Given the description of an element on the screen output the (x, y) to click on. 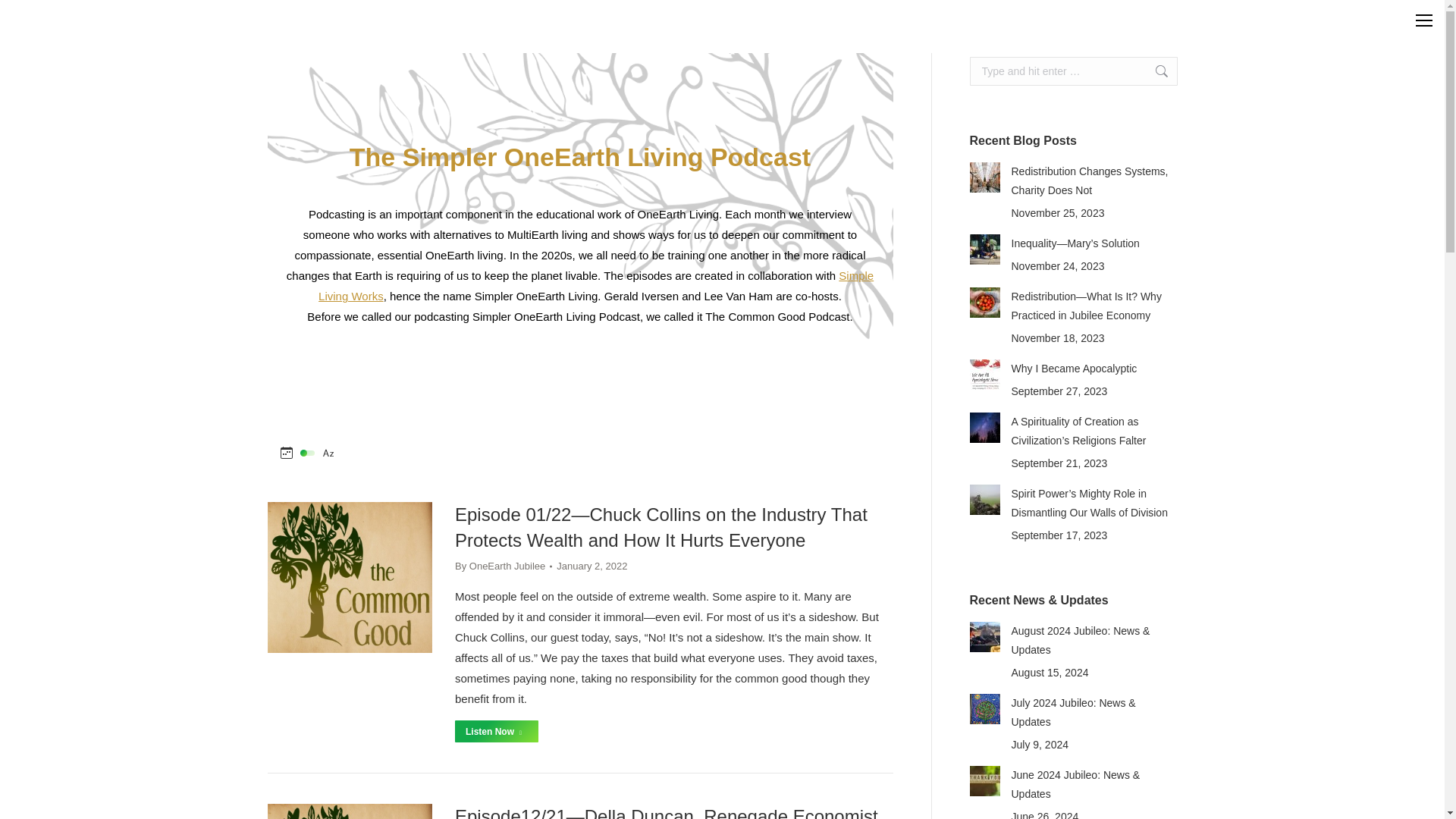
Go! (1153, 70)
Go! (1153, 70)
the-Common-Good-podcast-art (349, 577)
3:35 PM (591, 565)
the-Common-Good-podcast-art (349, 811)
View all posts by OneEarth Jubilee (502, 565)
